Given the description of an element on the screen output the (x, y) to click on. 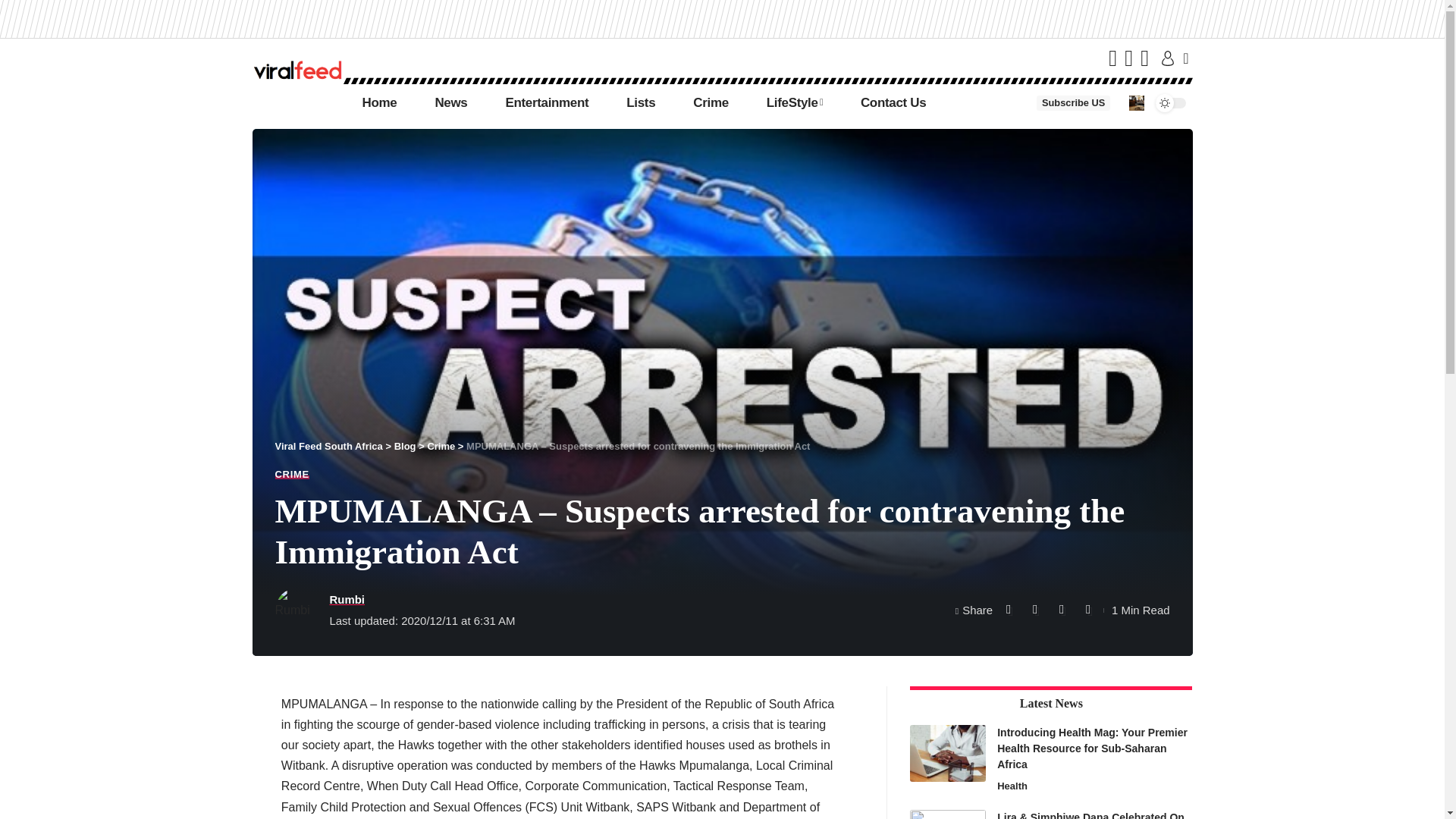
Go to the Crime Category archives. (440, 446)
LifeStyle (794, 103)
Subscribe US (1072, 103)
Home (378, 103)
Contact Us (892, 103)
Go to Viral Feed South Africa. (328, 446)
Viral Feed South Africa (328, 446)
Go to Blog. (405, 446)
Crime (440, 446)
News (450, 103)
